Given the description of an element on the screen output the (x, y) to click on. 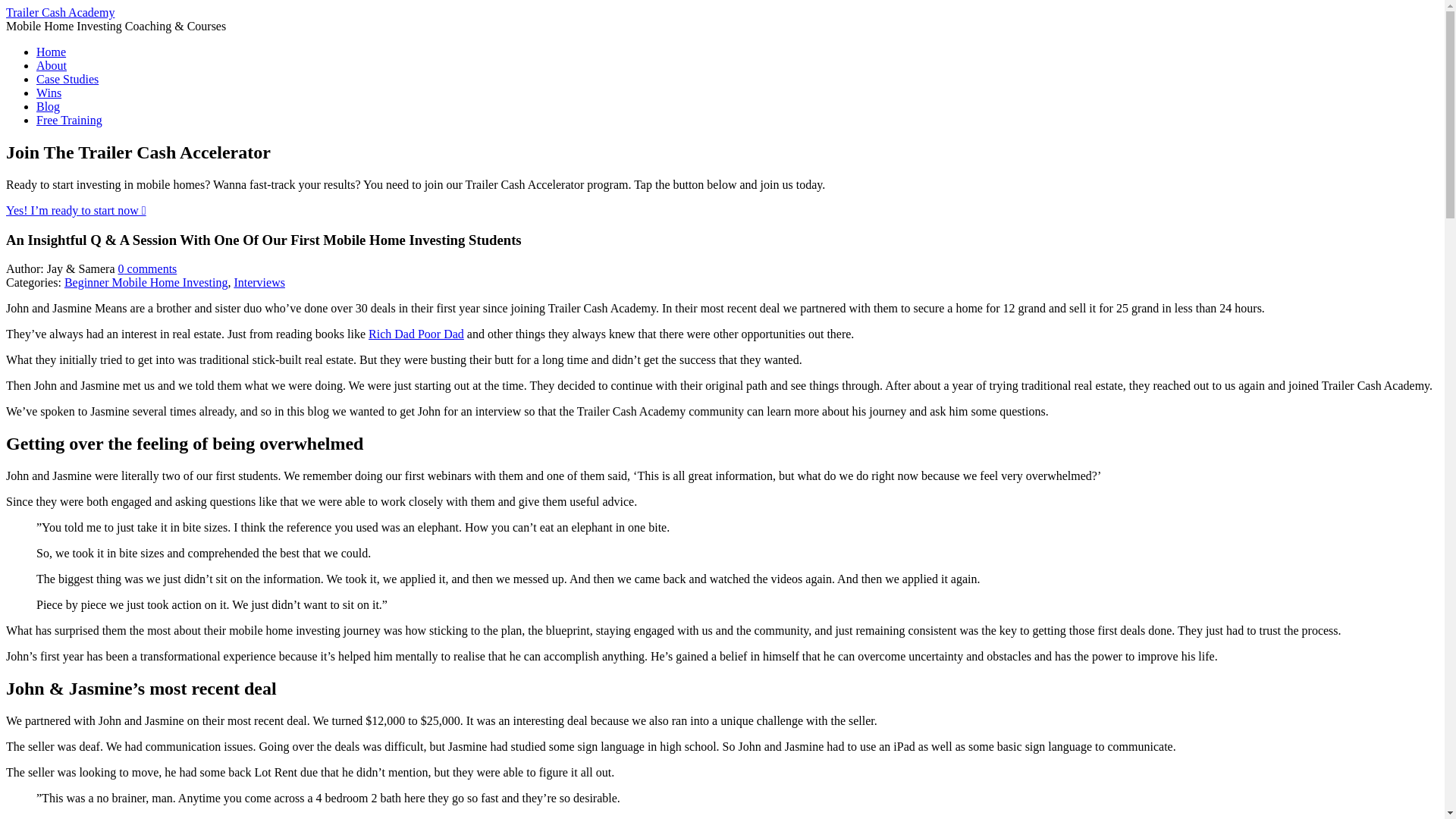
0 comments (147, 268)
Wins (48, 92)
Interviews (258, 282)
Trailer Cash Academy (60, 11)
About (51, 65)
Home (50, 51)
Case Studies (67, 78)
Beginner Mobile Home Investing (146, 282)
Rich Dad Poor Dad (416, 333)
Free Training (68, 119)
